Given the description of an element on the screen output the (x, y) to click on. 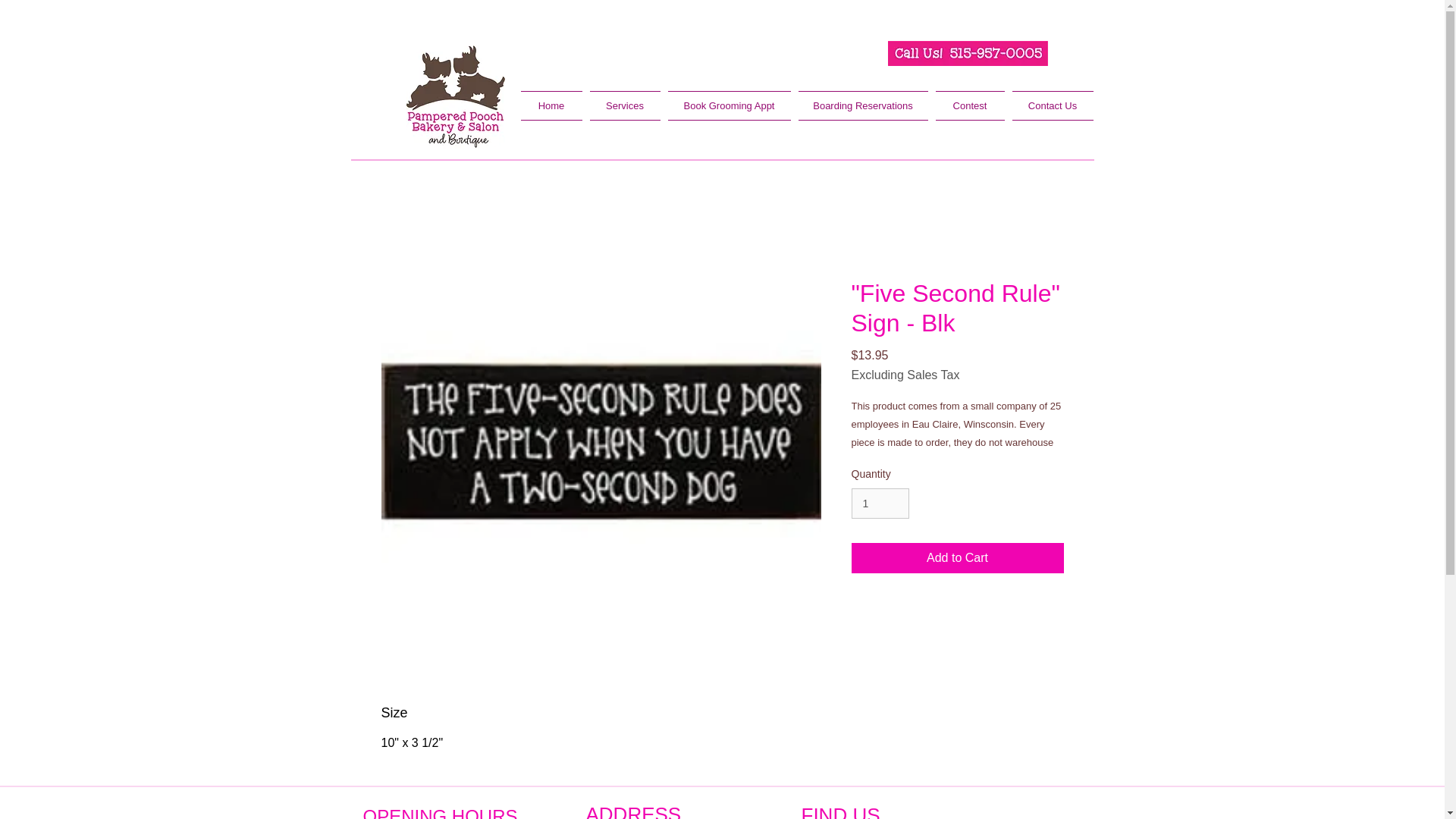
Home (552, 105)
1 (879, 503)
Contest (969, 105)
Book Grooming Appt (728, 105)
Services (624, 105)
Contact Us (1051, 105)
Boarding Reservations (862, 105)
Add to Cart (956, 557)
